Given the description of an element on the screen output the (x, y) to click on. 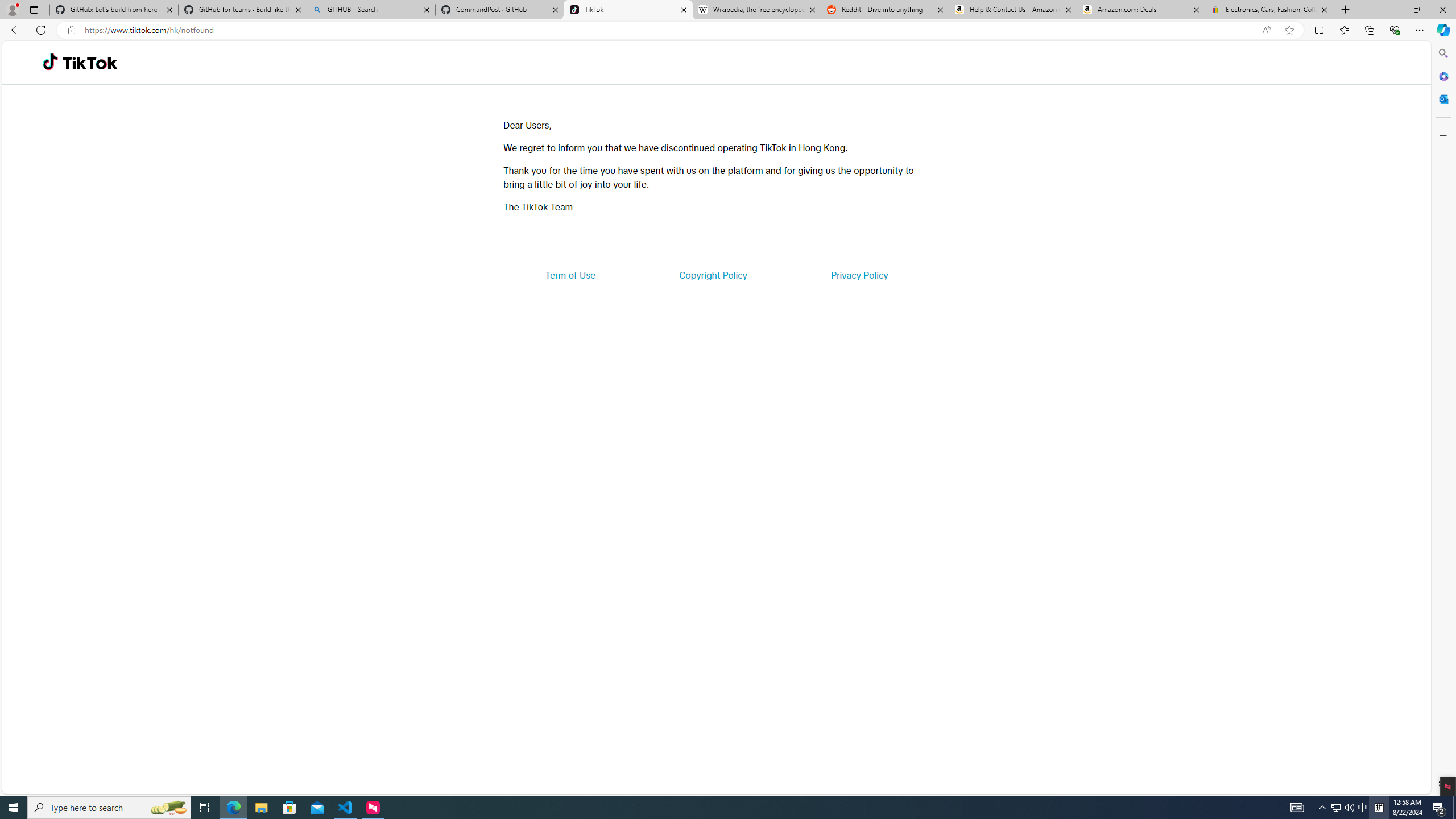
Amazon.com: Deals (1140, 9)
GITHUB - Search (370, 9)
Privacy Policy (858, 274)
Term of Use (569, 274)
